Given the description of an element on the screen output the (x, y) to click on. 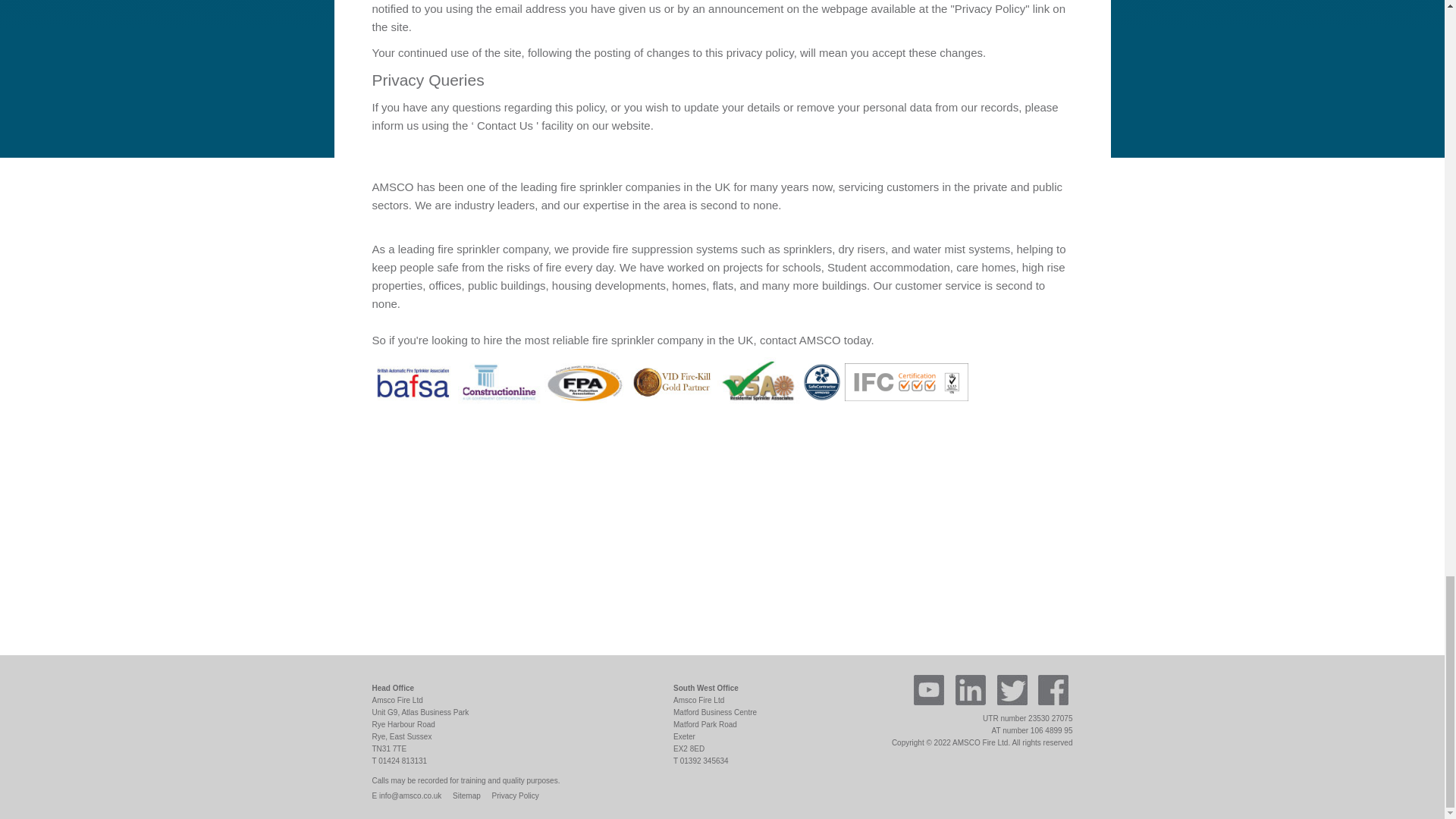
Contact Us (504, 124)
Sitemap (466, 795)
Privacy Policy (515, 795)
contact (778, 339)
Contact Us (504, 124)
